Given the description of an element on the screen output the (x, y) to click on. 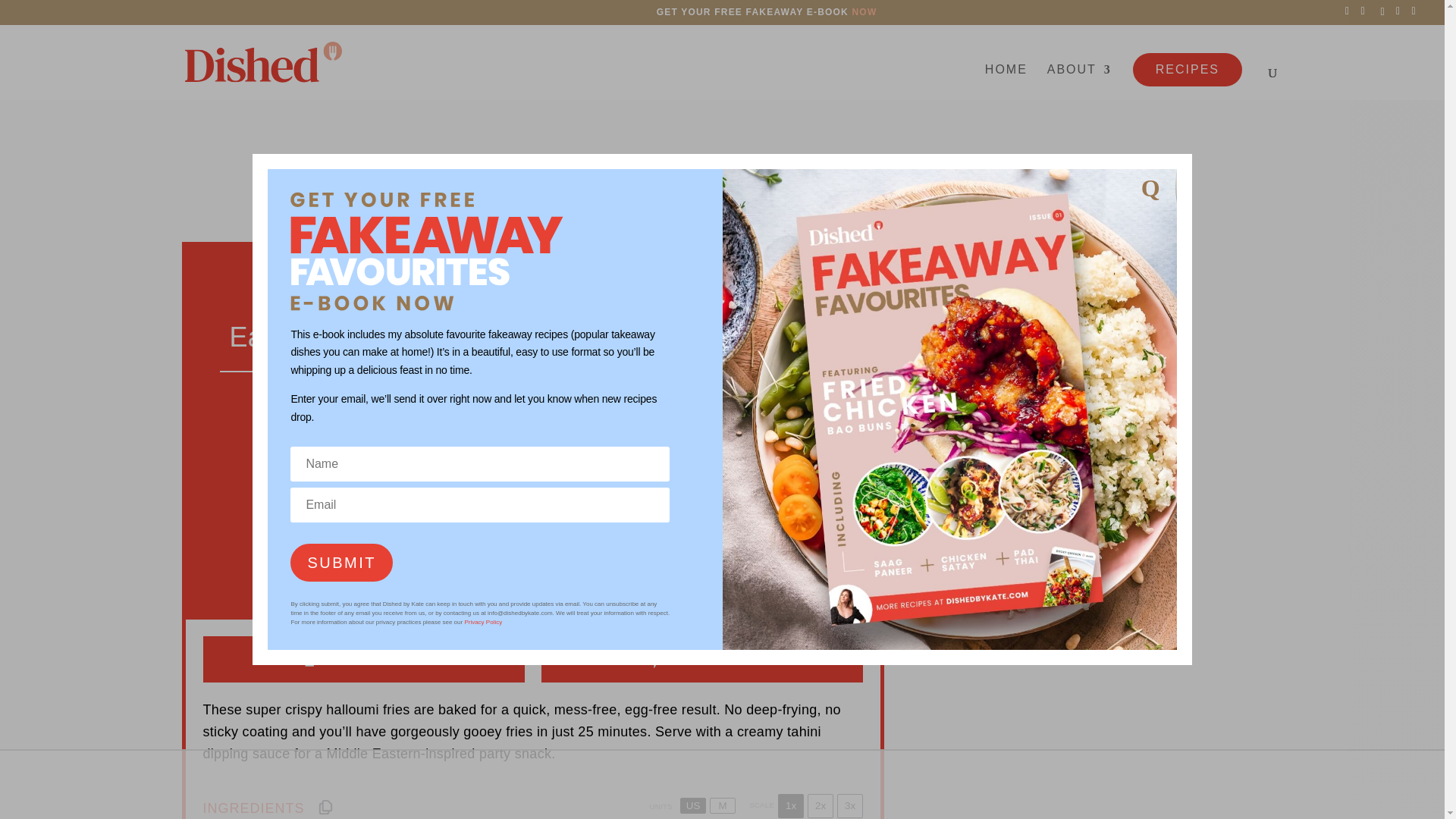
Copy to clipboard Copy to clipboard (325, 806)
